Given the description of an element on the screen output the (x, y) to click on. 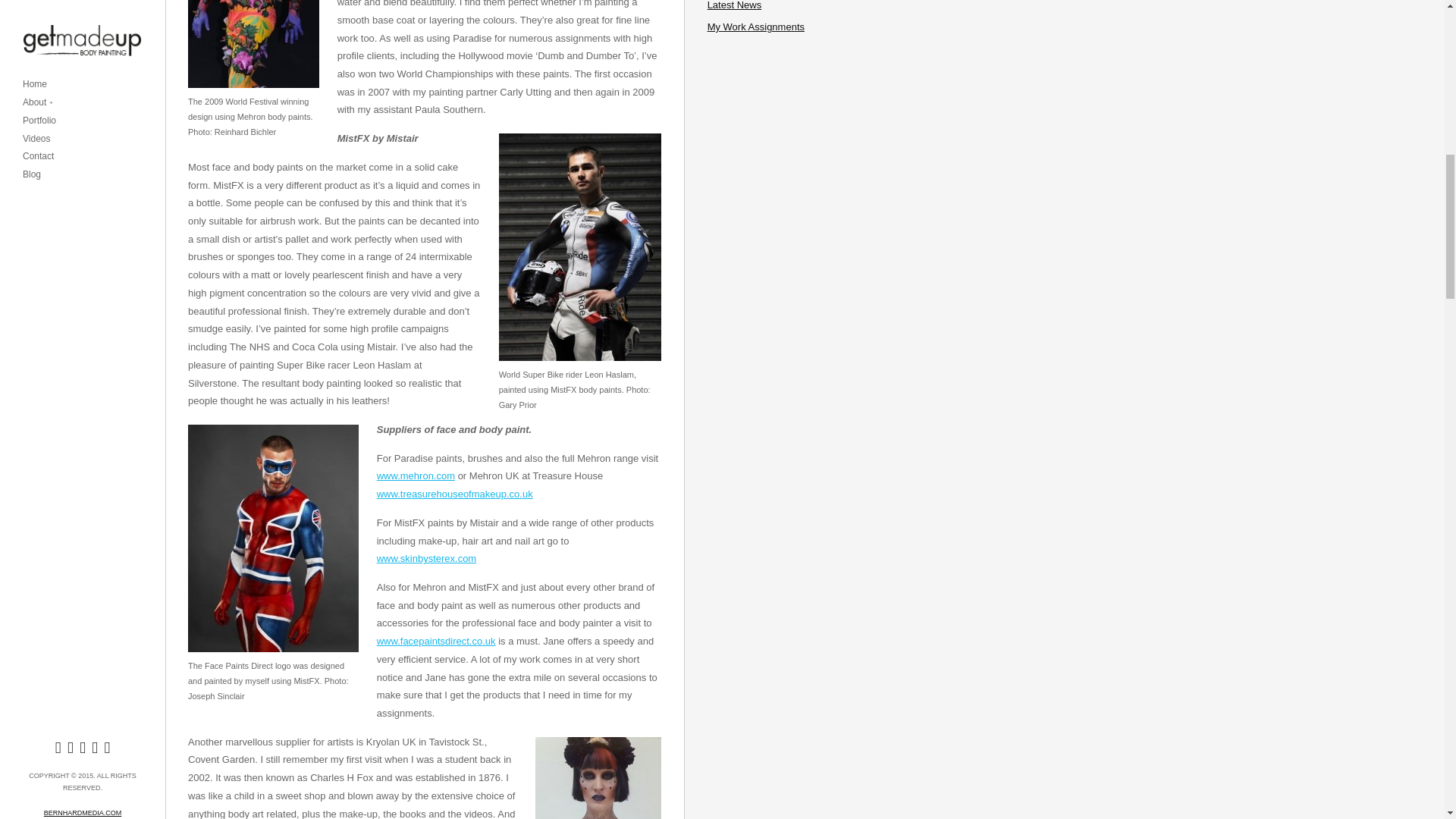
www.treasurehouseofmakeup.co.uk (454, 493)
www.facepaintsdirect.co.uk (436, 641)
www.mehron.com (415, 475)
www.skinbysterex.com (426, 558)
